Given the description of an element on the screen output the (x, y) to click on. 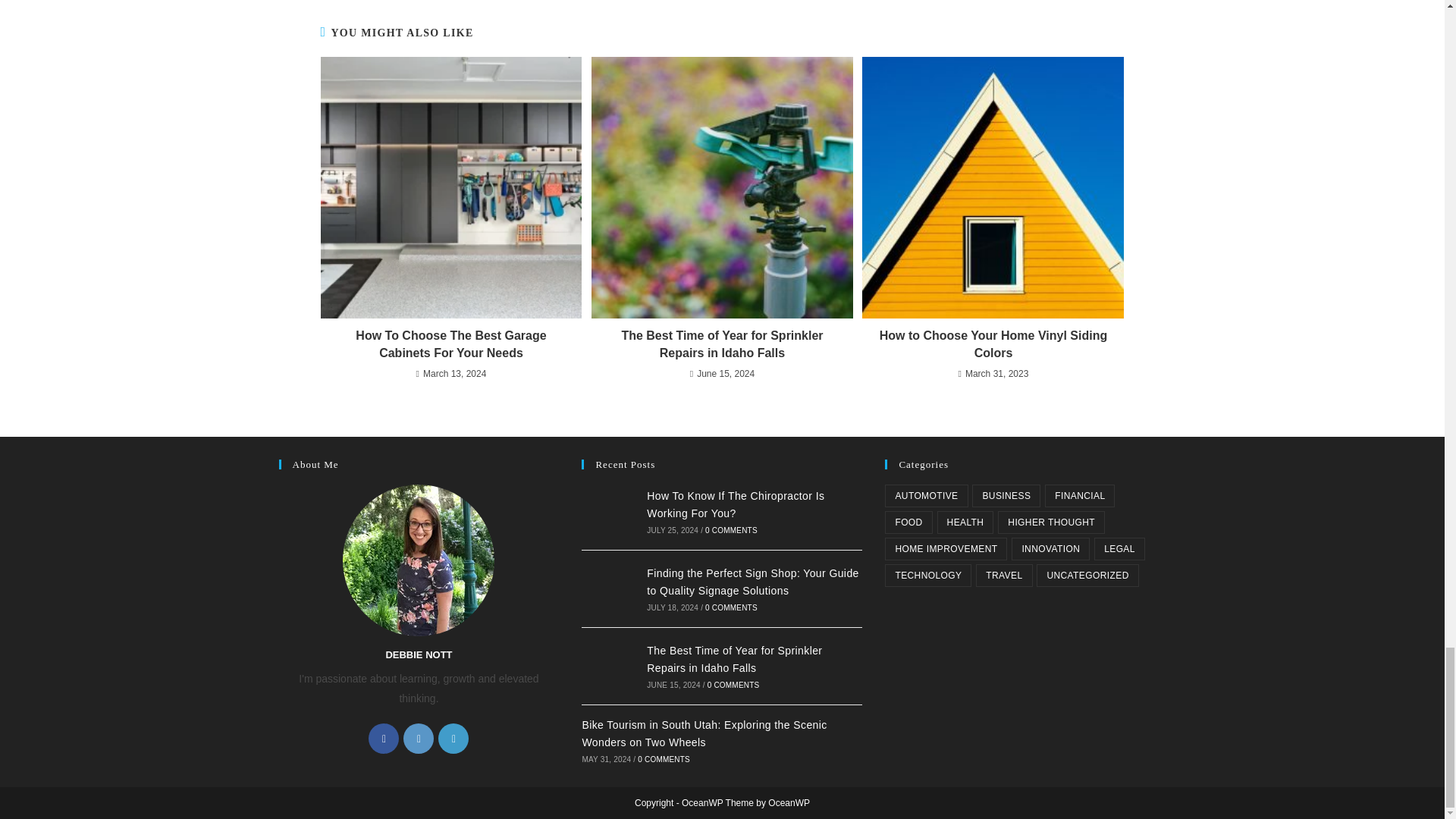
How To Know If The Chiropractor Is Working For You? (735, 503)
How to Choose Your Home Vinyl Siding Colors (992, 344)
How To Know If The Chiropractor Is Working For You? (607, 511)
0 COMMENTS (730, 530)
The Best Time of Year for Sprinkler Repairs in Idaho Falls (607, 665)
The Best Time of Year for Sprinkler Repairs in Idaho Falls (734, 658)
0 COMMENTS (733, 684)
The Best Time of Year for Sprinkler Repairs in Idaho Falls (721, 344)
